Given the description of an element on the screen output the (x, y) to click on. 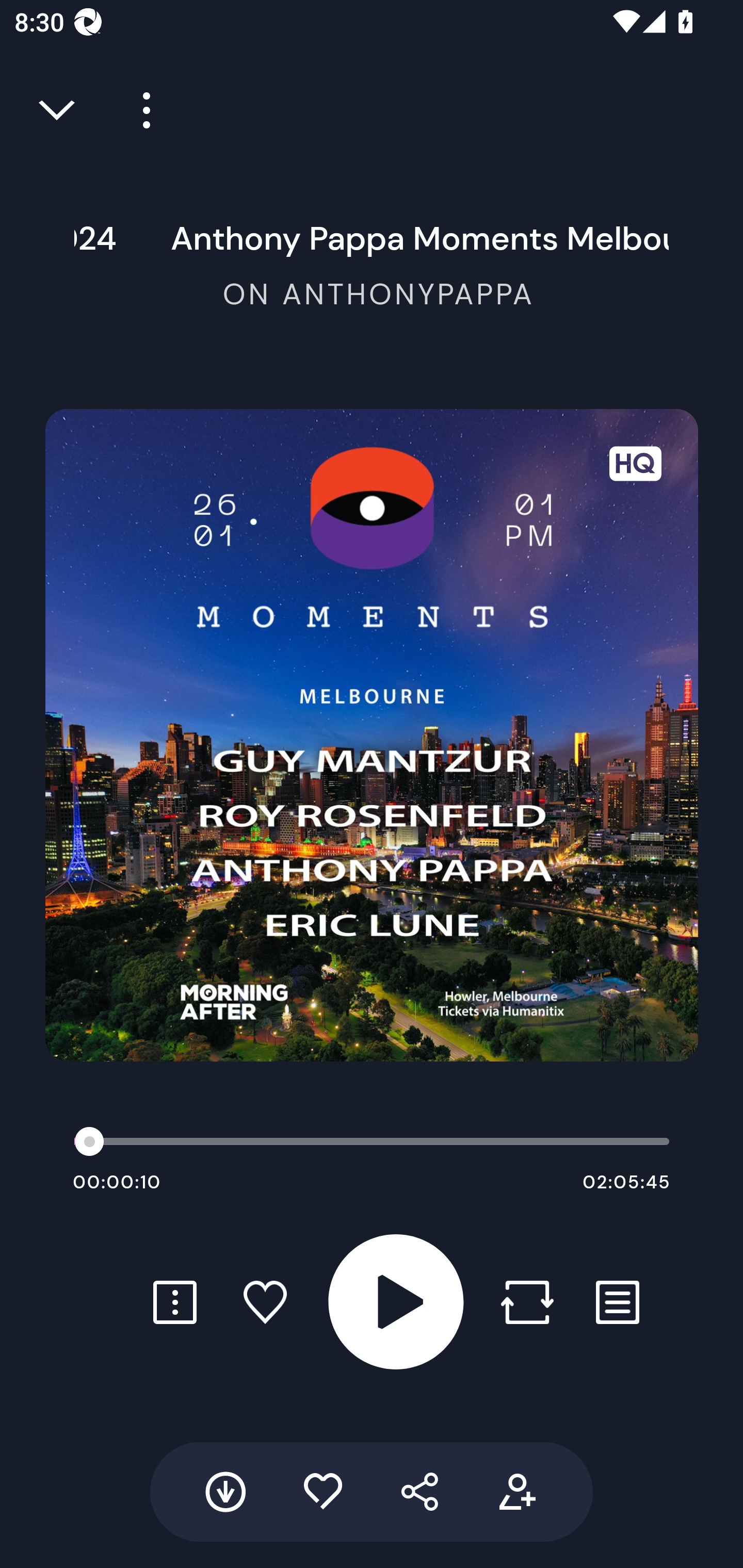
Close full player (58, 110)
Player more options button (139, 110)
Repost button (527, 1301)
